Given the description of an element on the screen output the (x, y) to click on. 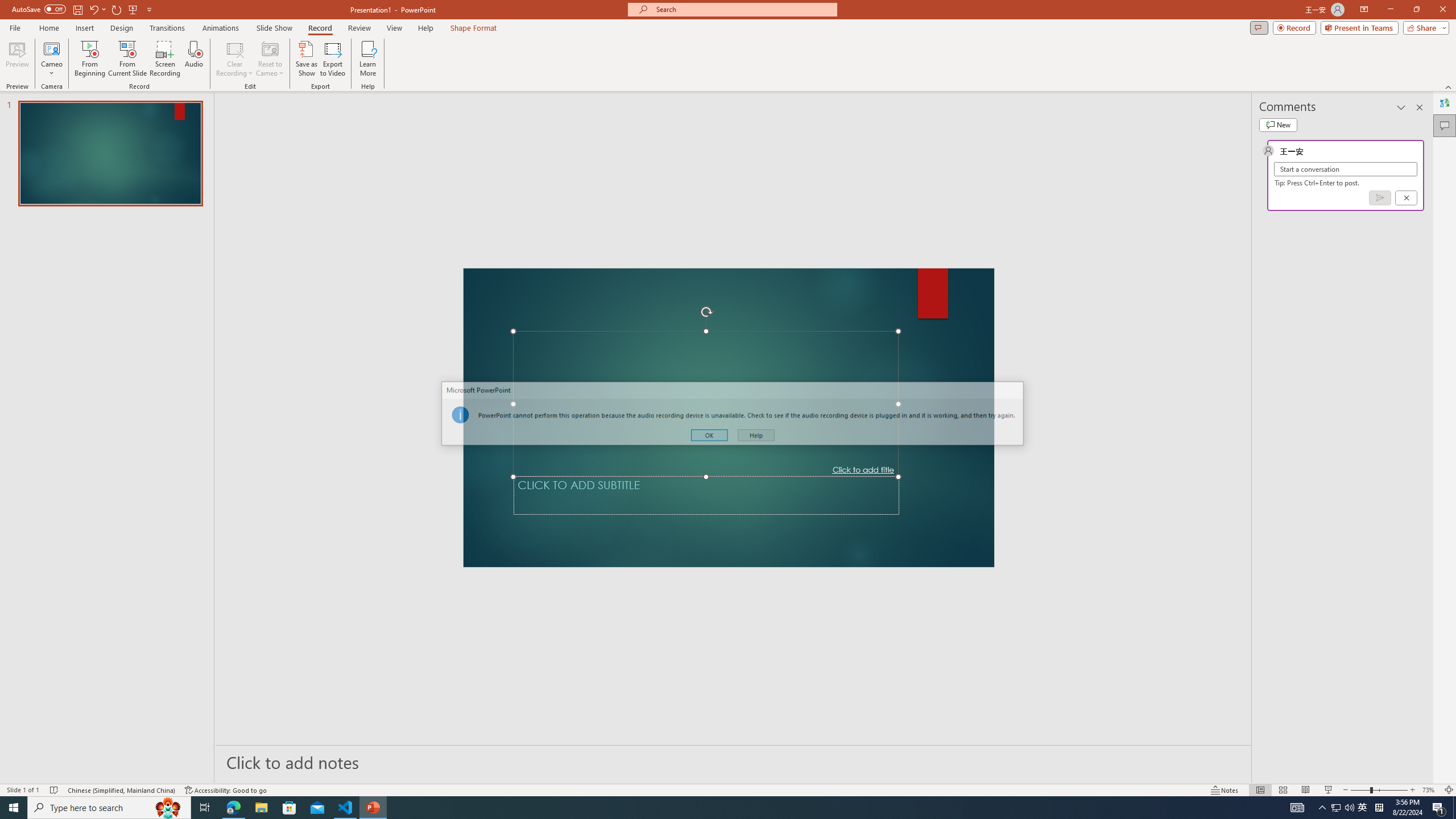
Post comment (Ctrl + Enter) (1379, 197)
Cancel (1405, 197)
Subtitle TextBox (706, 494)
